Given the description of an element on the screen output the (x, y) to click on. 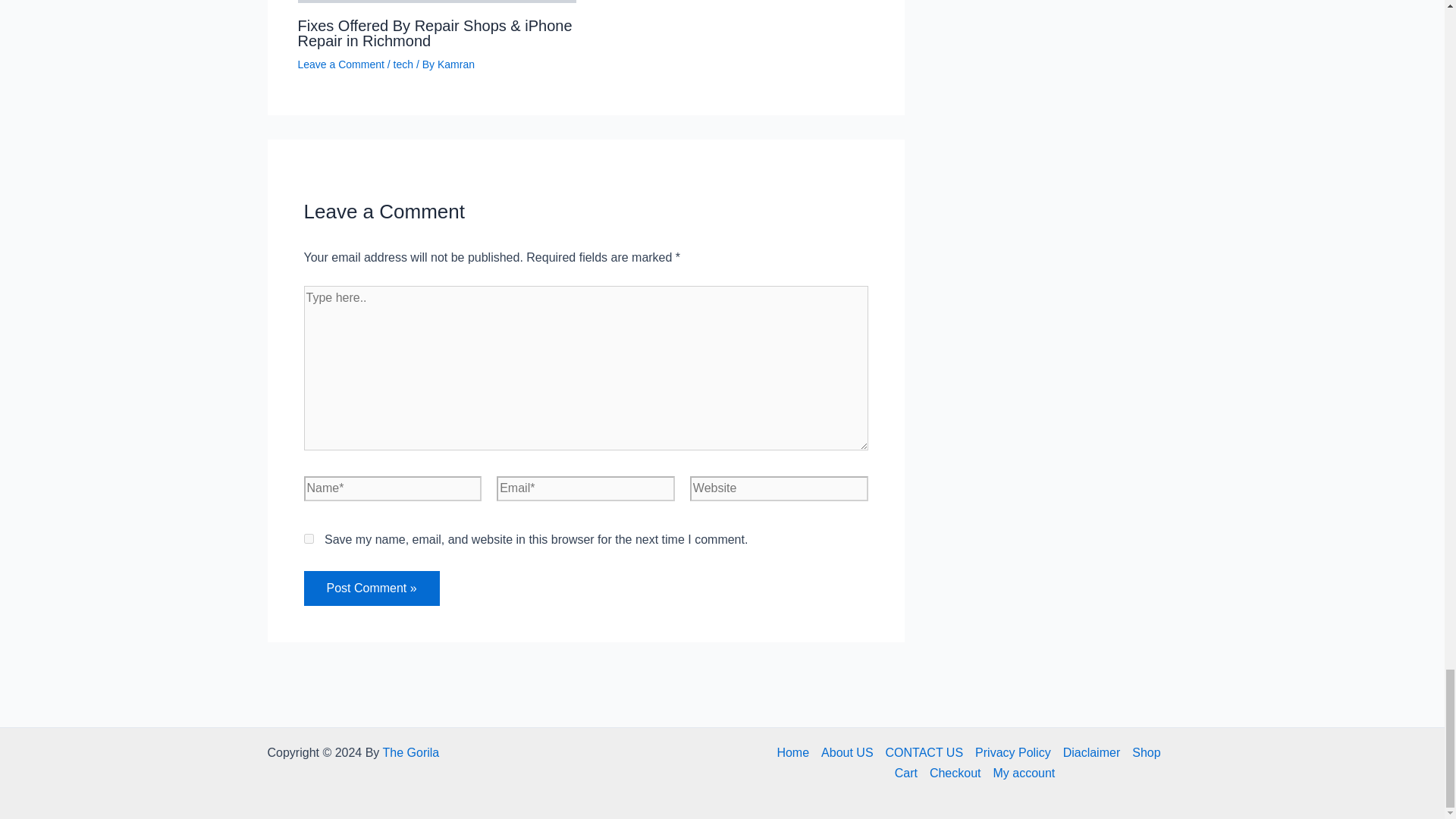
View all posts by Kamran (456, 64)
tech (403, 64)
Leave a Comment (340, 64)
yes (307, 538)
Kamran (456, 64)
